Given the description of an element on the screen output the (x, y) to click on. 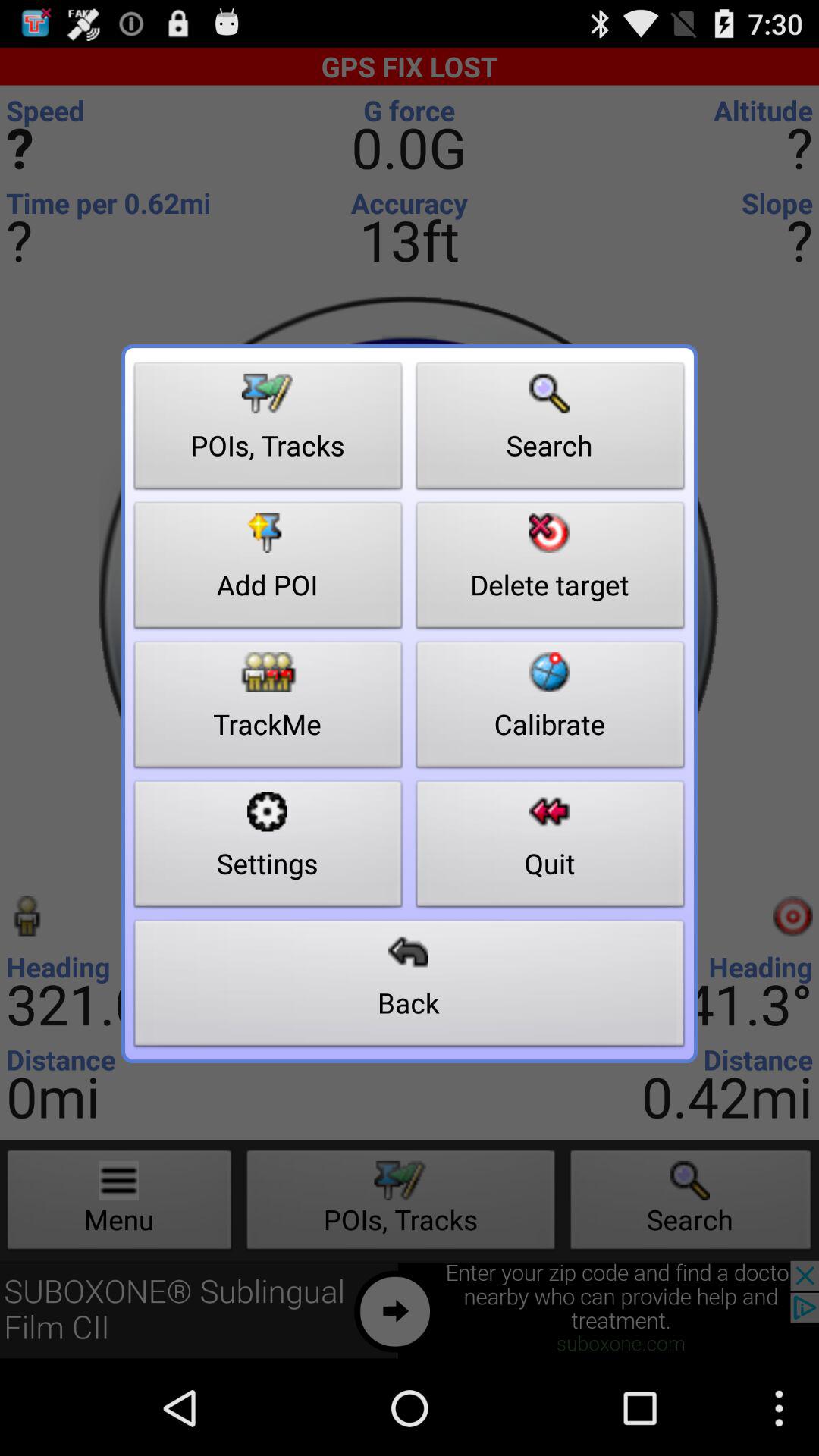
swipe until the add poi item (268, 569)
